Given the description of an element on the screen output the (x, y) to click on. 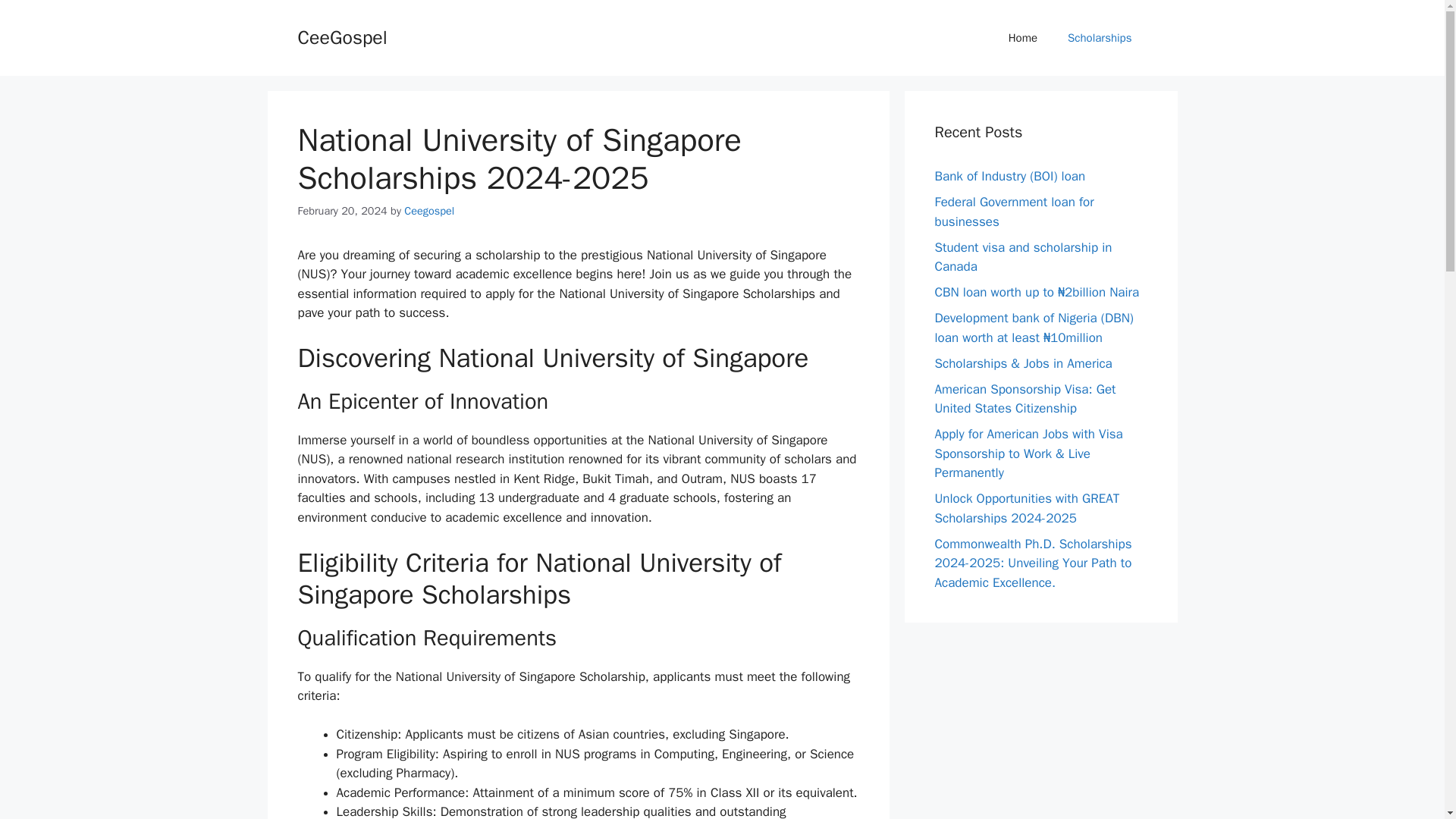
Scholarships (1099, 37)
View all posts by Ceegospel (429, 210)
American Sponsorship Visa: Get United States Citizenship (1024, 398)
Student visa and scholarship in Canada (1023, 257)
Federal Government loan for businesses (1013, 212)
Unlock Opportunities with GREAT Scholarships 2024-2025 (1026, 508)
Home (1022, 37)
Ceegospel (429, 210)
CeeGospel (342, 37)
